Given the description of an element on the screen output the (x, y) to click on. 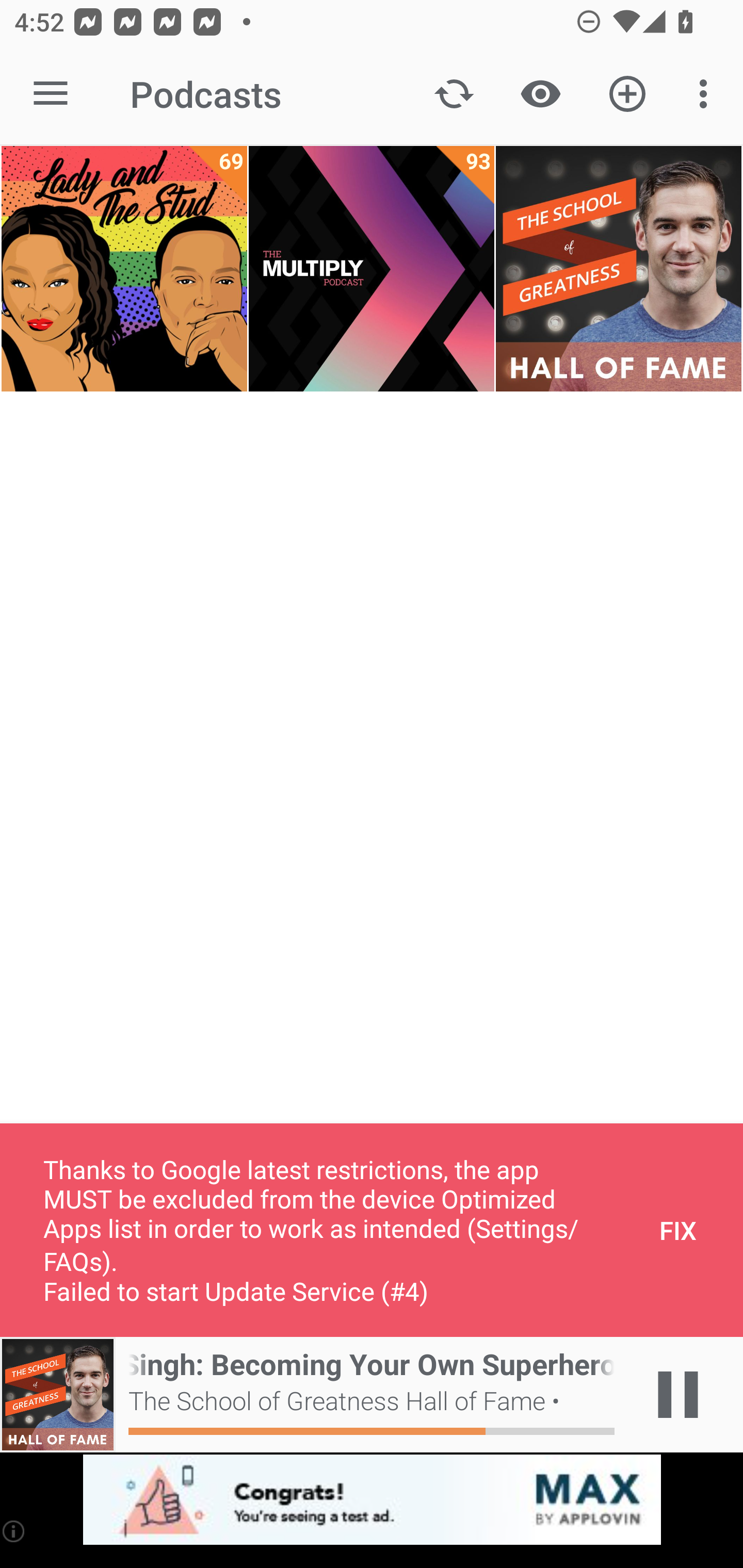
Open navigation sidebar (50, 93)
Update (453, 93)
Show / Hide played content (540, 93)
Add new Podcast (626, 93)
More options (706, 93)
Lady and The Stud 69 (124, 268)
The Multiply Podcast 93 (371, 268)
The School of Greatness Hall of Fame (618, 268)
FIX (677, 1229)
Play / Pause (677, 1394)
app-monetization (371, 1500)
(i) (14, 1531)
